Given the description of an element on the screen output the (x, y) to click on. 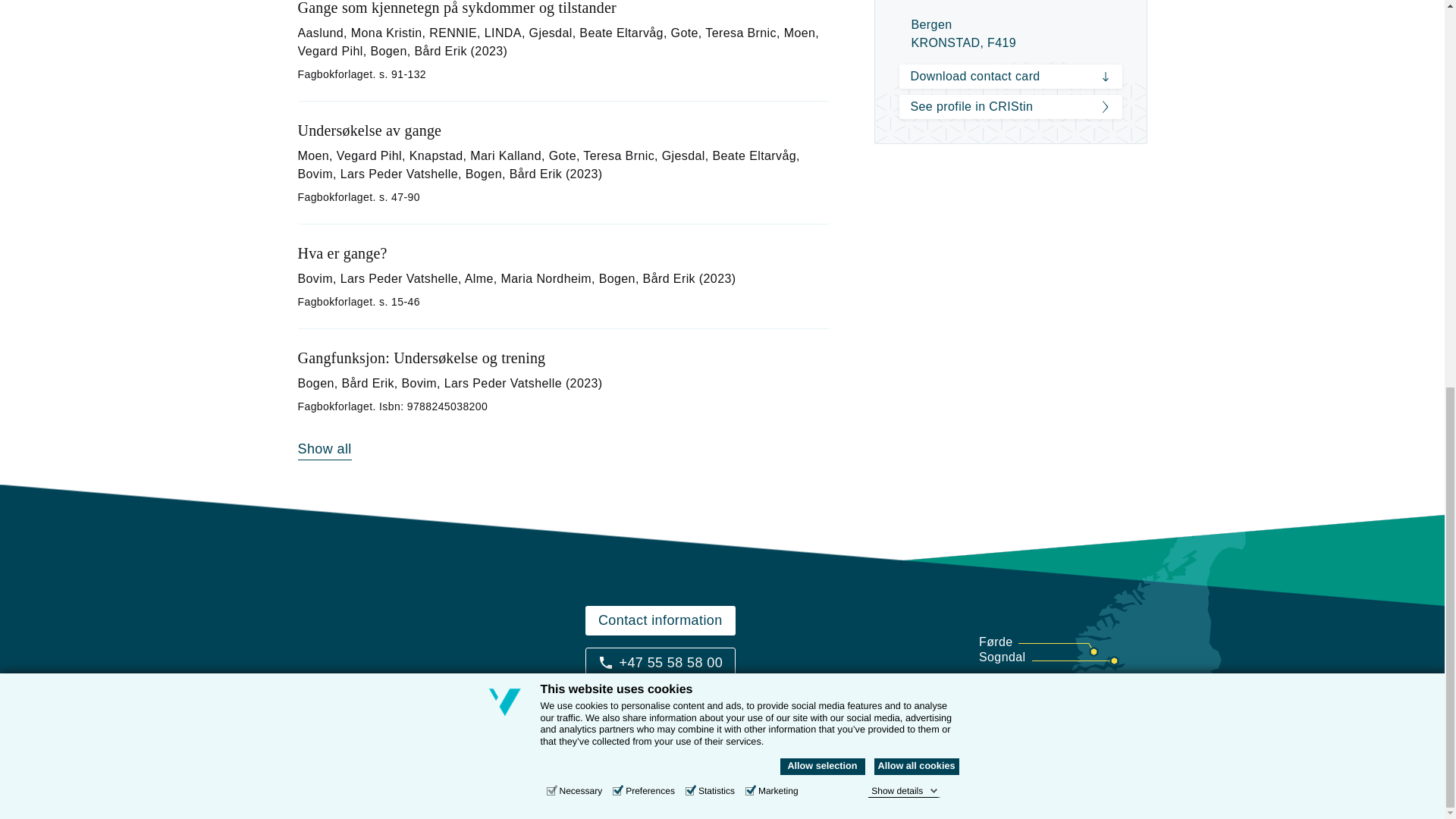
Allow all cookies (915, 33)
Show details (903, 58)
Allow selection (821, 33)
